Given the description of an element on the screen output the (x, y) to click on. 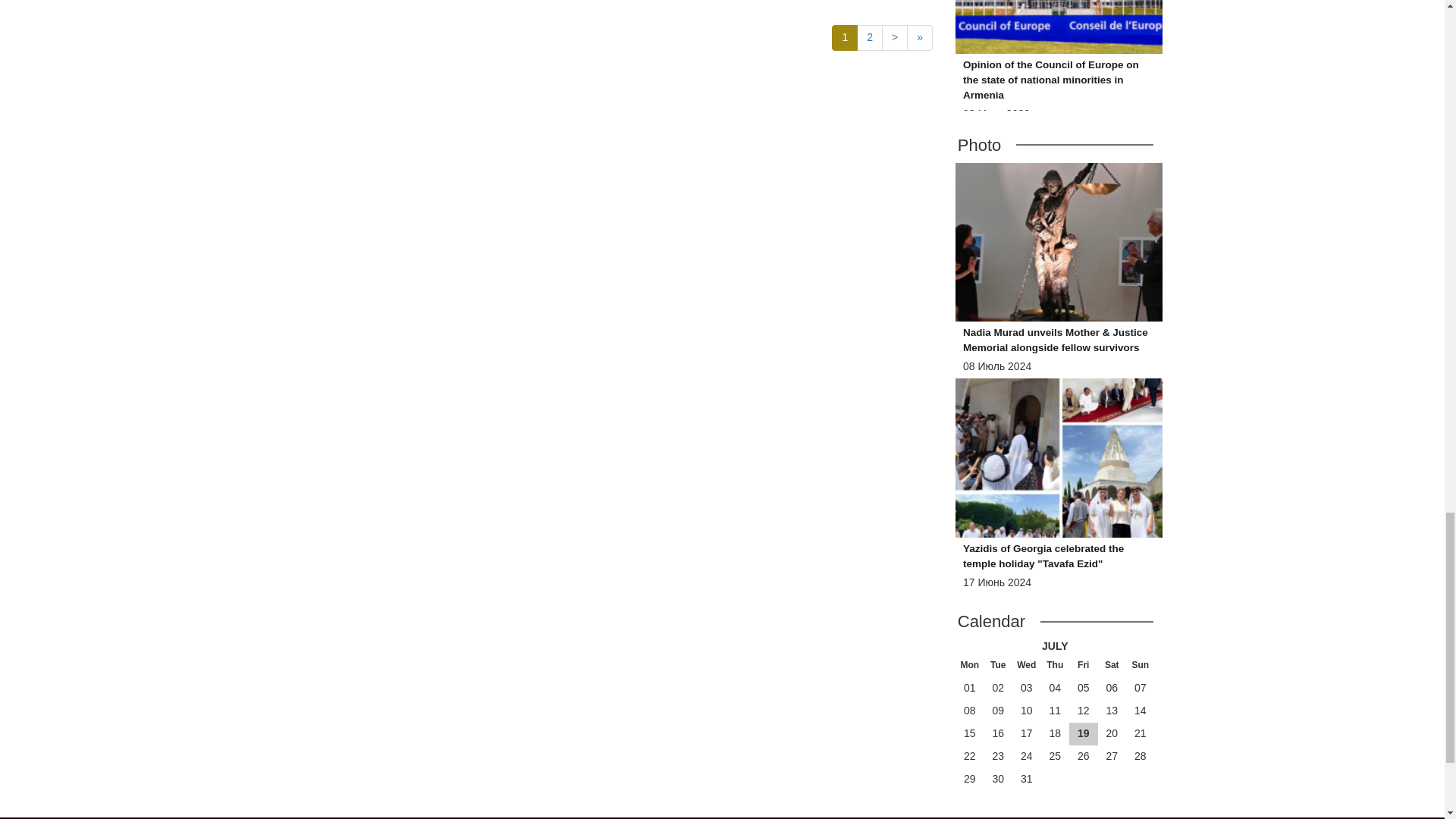
Page 2 (869, 37)
Next (894, 37)
Last (920, 37)
